Given the description of an element on the screen output the (x, y) to click on. 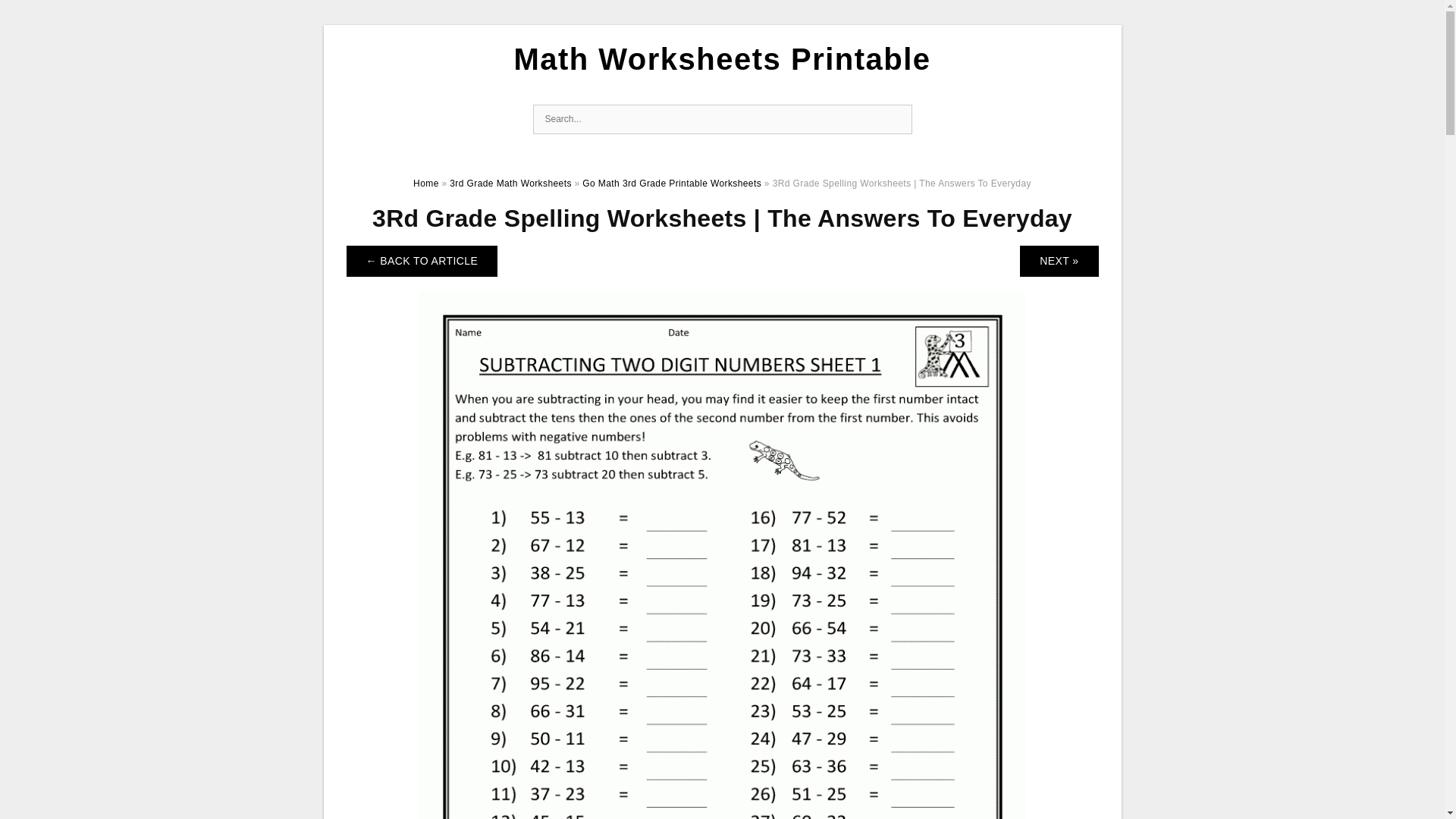
3rd Grade Math Worksheets (510, 183)
Search (895, 119)
Search (895, 119)
Return to Go Math 3rd Grade Printable Worksheets (421, 260)
Math Worksheets Printable (721, 59)
Search (895, 119)
Go Math 3rd Grade Printable Worksheets (671, 183)
Search for: (721, 119)
Home (426, 183)
